Given the description of an element on the screen output the (x, y) to click on. 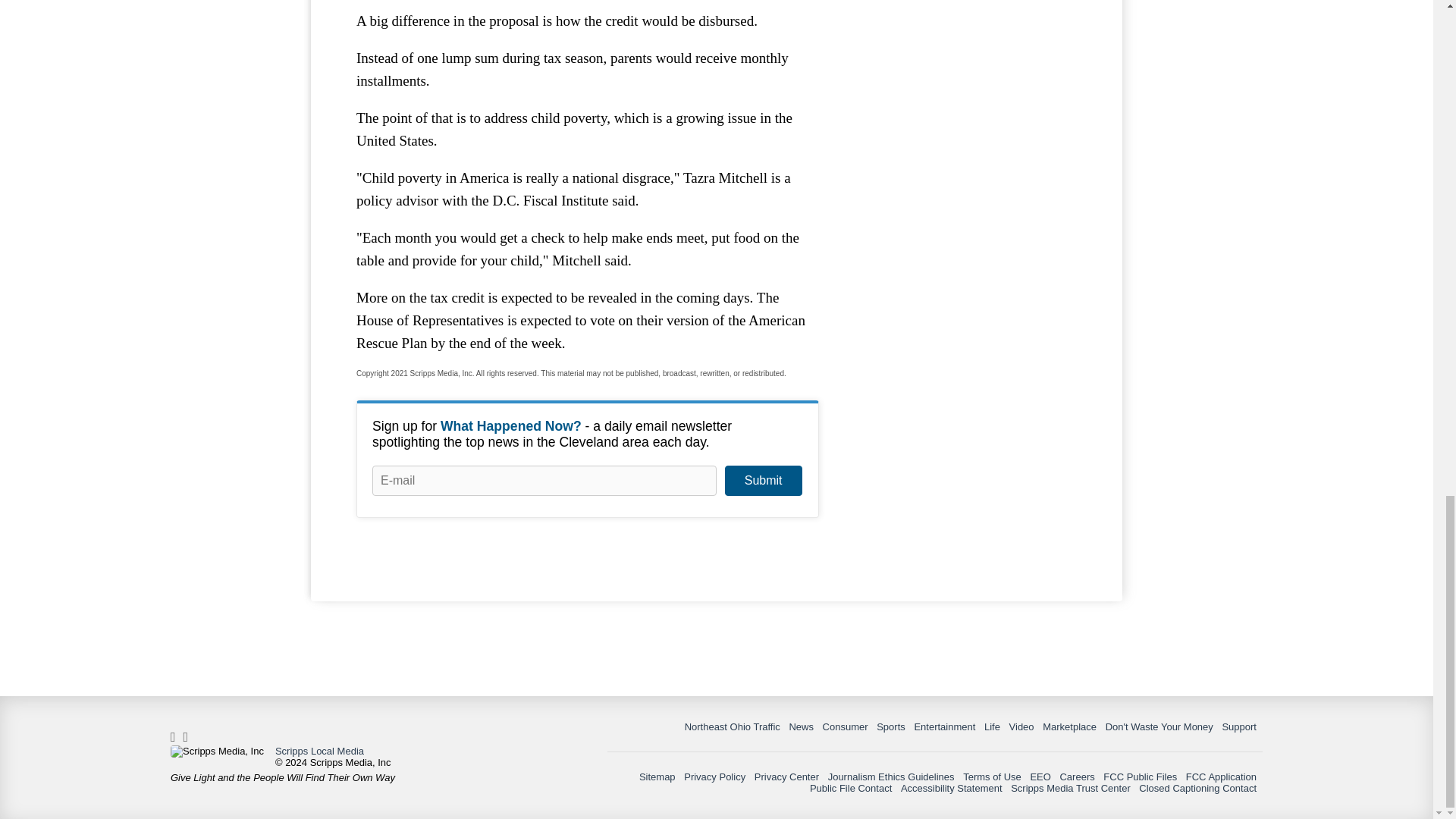
Submit (763, 481)
